Given the description of an element on the screen output the (x, y) to click on. 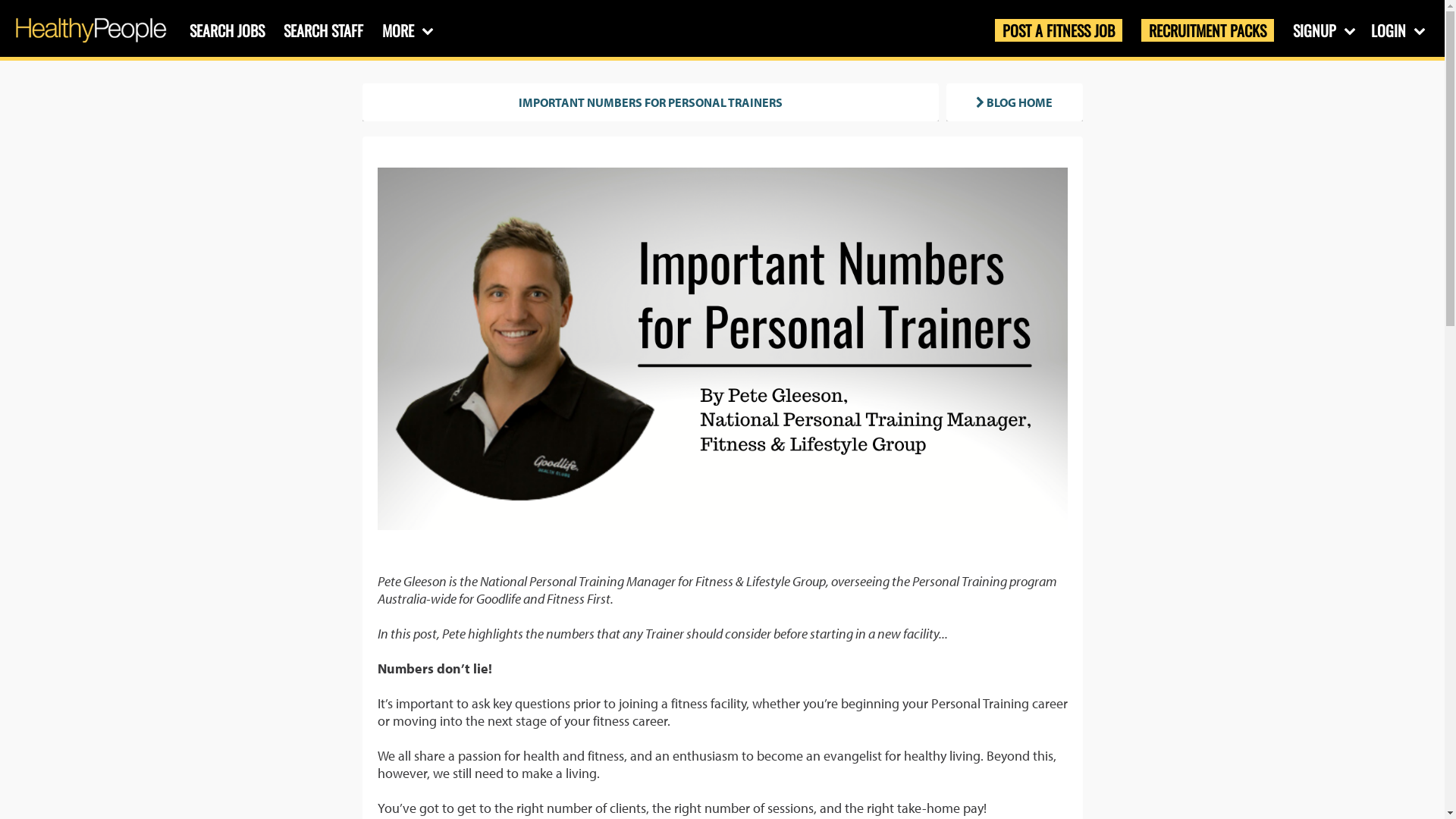
RECRUITMENT PACKS Element type: text (1207, 30)
MORE Element type: text (405, 30)
POST A FITNESS JOB Element type: text (1058, 30)
SIGNUP Element type: text (1322, 30)
BLOG HOME Element type: text (1013, 101)
SEARCH JOBS Element type: text (227, 30)
LOGIN Element type: text (1396, 30)
SEARCH STAFF Element type: text (323, 30)
